Given the description of an element on the screen output the (x, y) to click on. 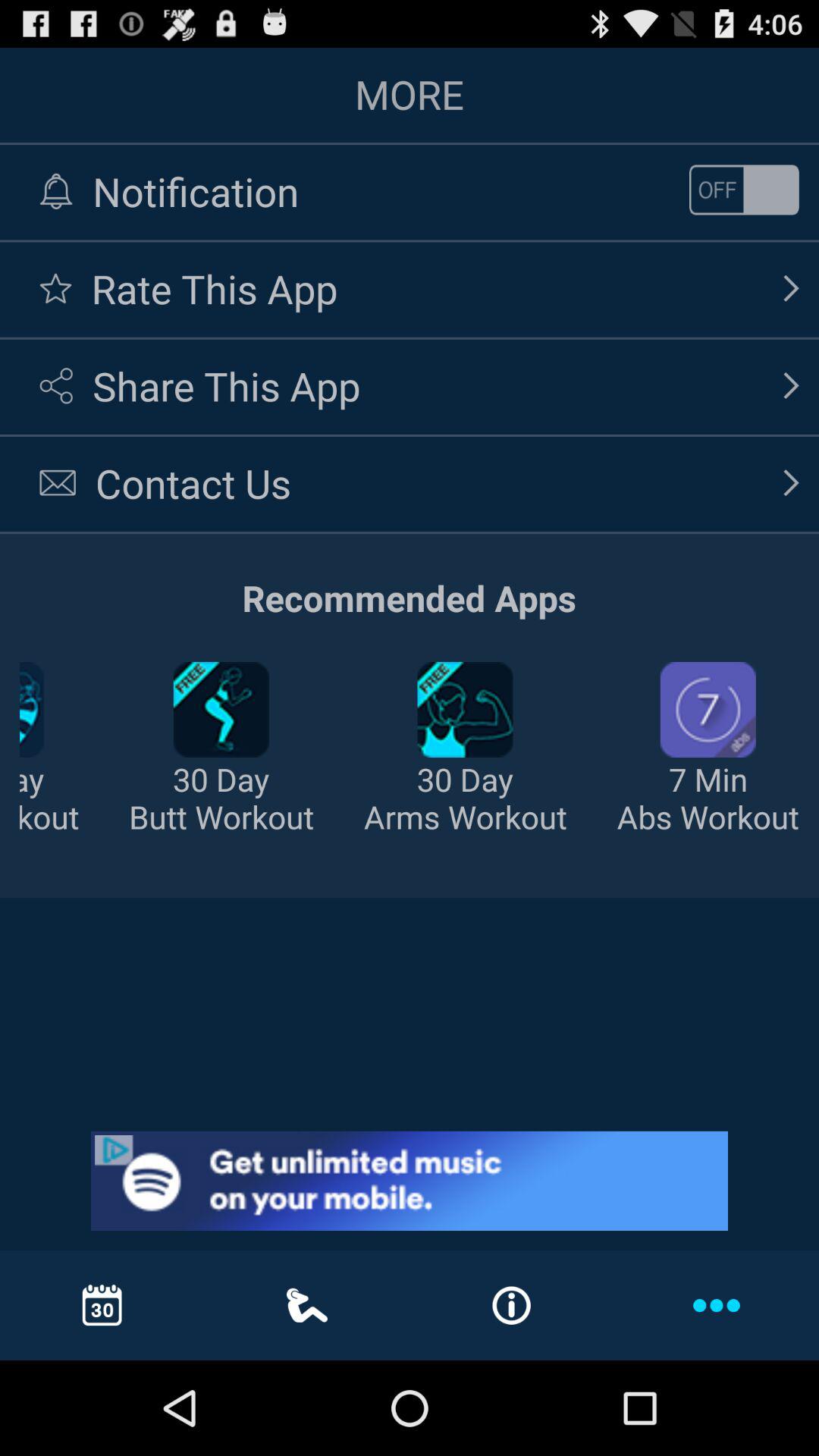
on or off the notifiation (744, 189)
